Given the description of an element on the screen output the (x, y) to click on. 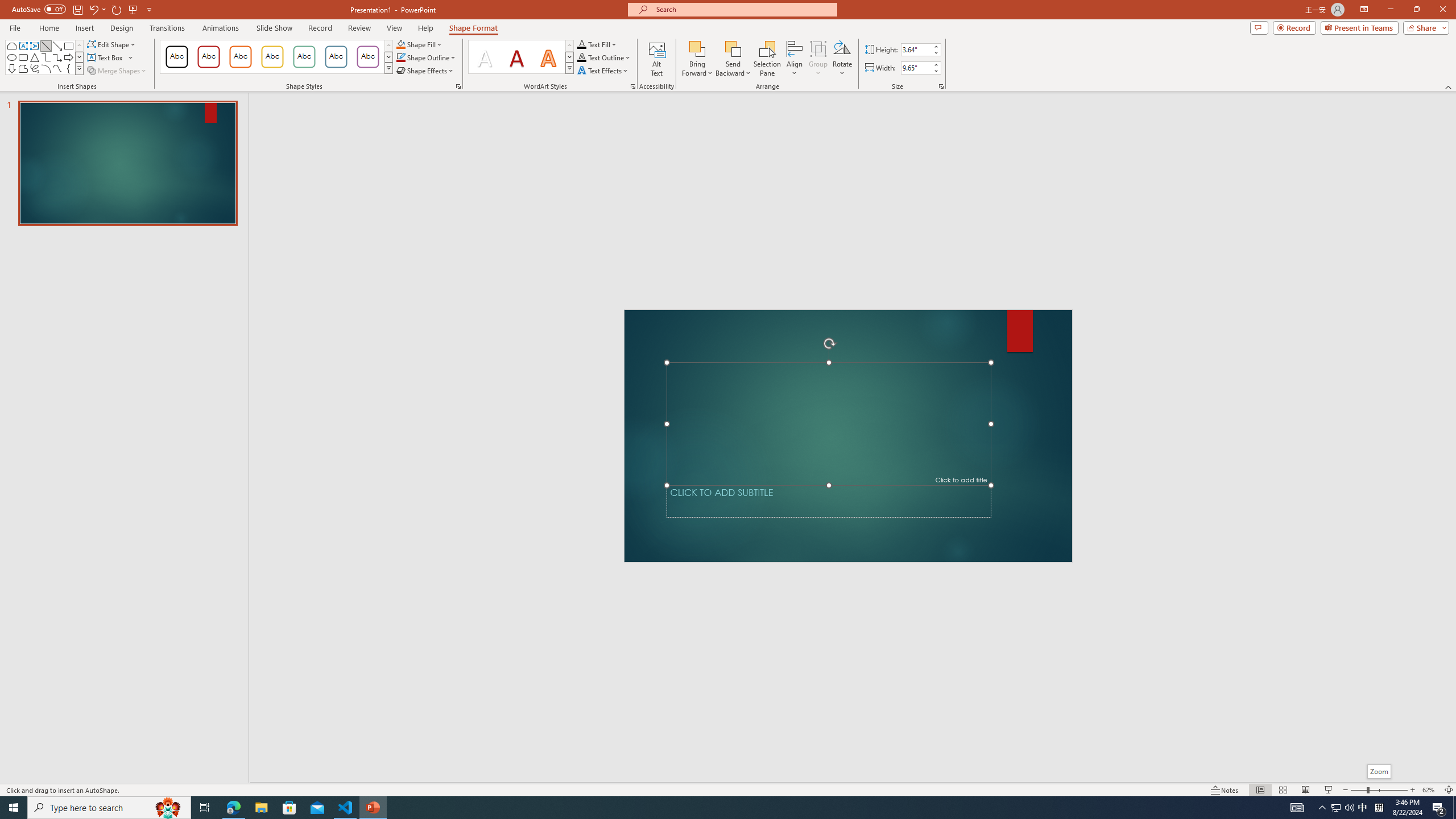
Arrow: Right (68, 57)
Shape Effects (425, 69)
Shape Fill Orange, Accent 2 (400, 44)
Slide (127, 163)
Colored Outline - Orange, Accent 2 (240, 56)
Shape Outline (426, 56)
Size and Position... (941, 85)
Connector: Elbow Arrow (57, 57)
AutomationID: ShapesInsertGallery (44, 57)
Colored Outline - Gold, Accent 3 (272, 56)
